Given the description of an element on the screen output the (x, y) to click on. 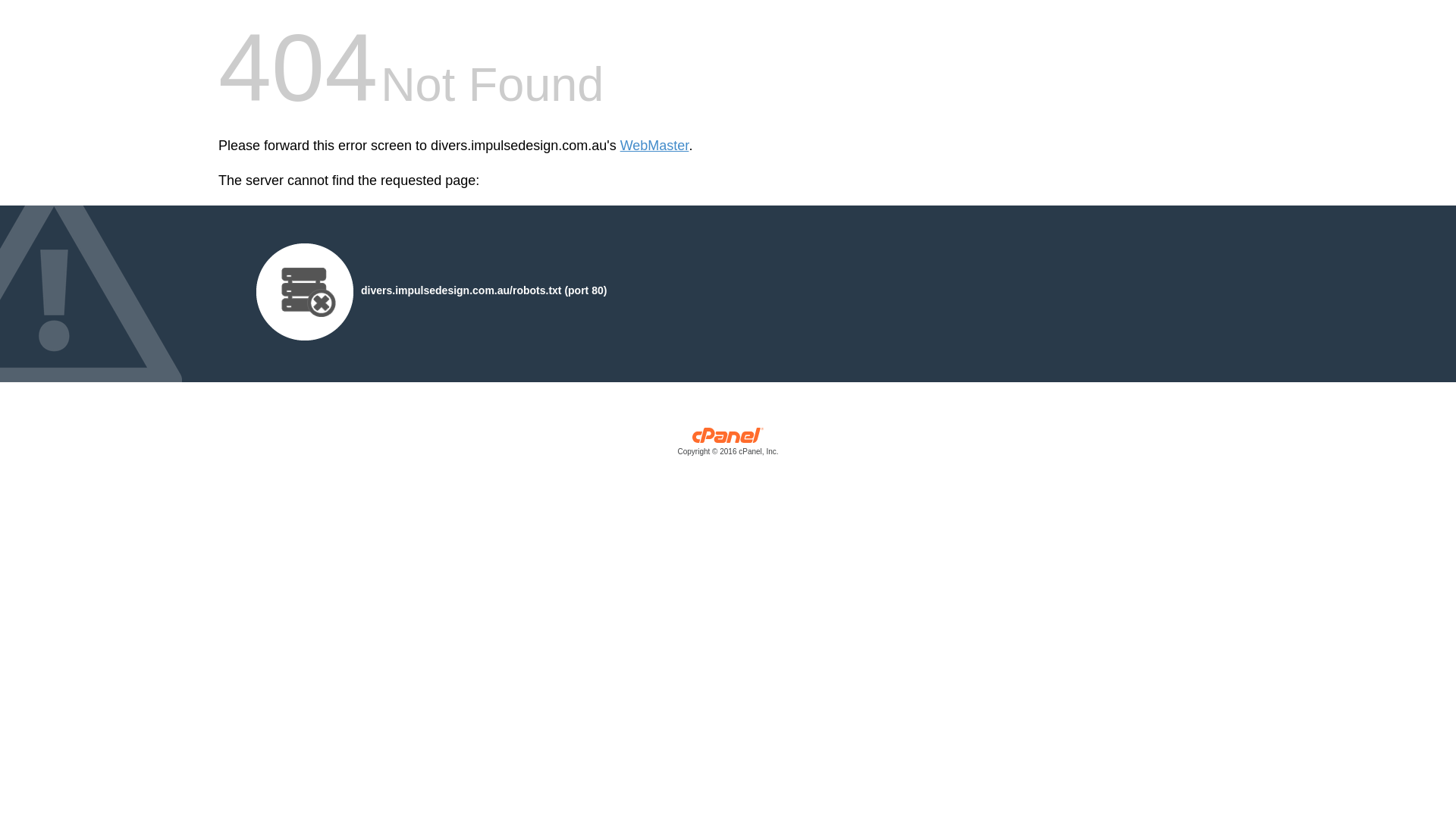
WebMaster Element type: text (654, 145)
